Given the description of an element on the screen output the (x, y) to click on. 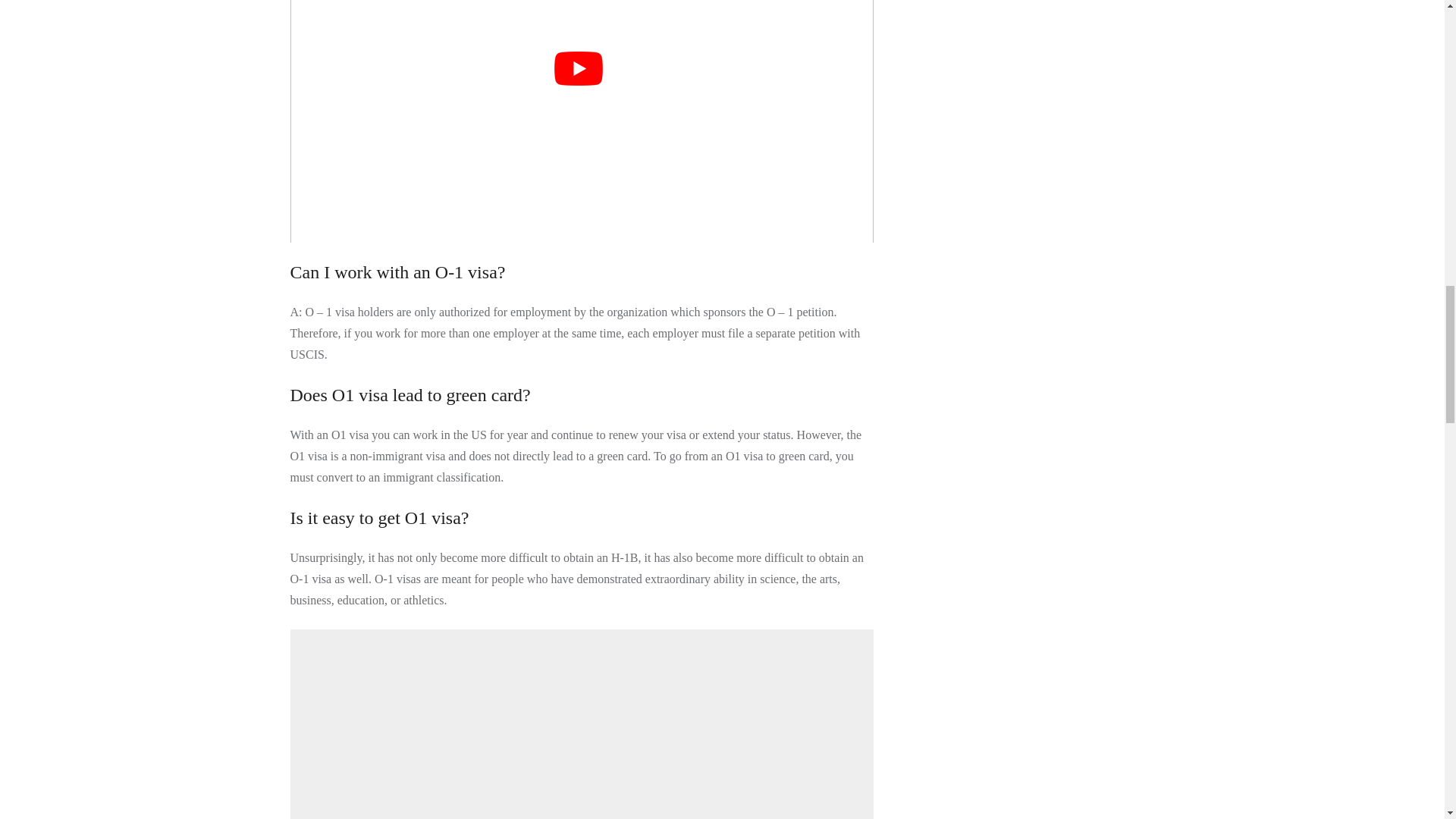
Advertisement (584, 724)
